Given the description of an element on the screen output the (x, y) to click on. 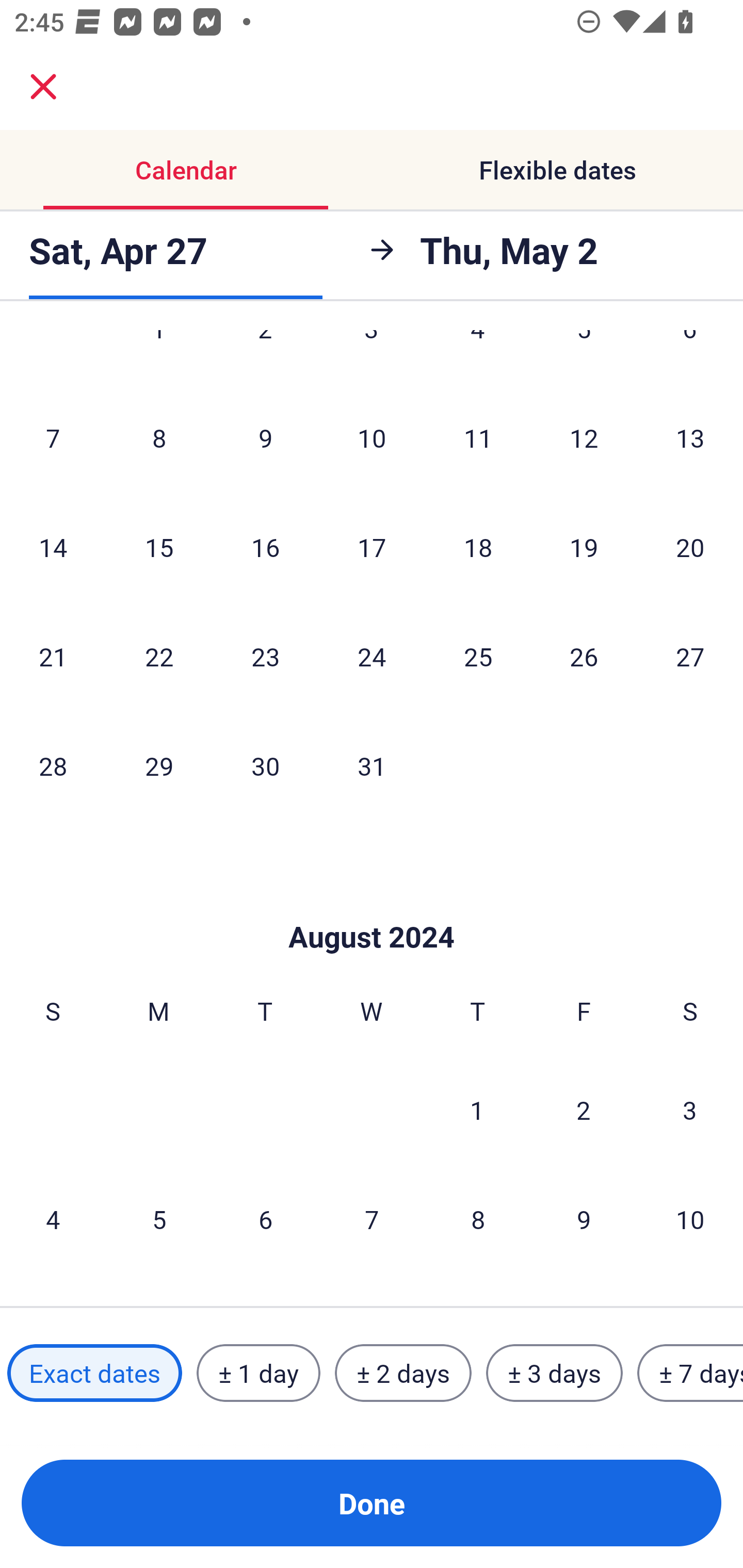
close. (43, 86)
Flexible dates (557, 170)
7 Sunday, July 7, 2024 (53, 437)
8 Monday, July 8, 2024 (159, 437)
9 Tuesday, July 9, 2024 (265, 437)
10 Wednesday, July 10, 2024 (371, 437)
11 Thursday, July 11, 2024 (477, 437)
12 Friday, July 12, 2024 (584, 437)
13 Saturday, July 13, 2024 (690, 437)
14 Sunday, July 14, 2024 (53, 546)
15 Monday, July 15, 2024 (159, 546)
16 Tuesday, July 16, 2024 (265, 546)
17 Wednesday, July 17, 2024 (371, 546)
18 Thursday, July 18, 2024 (477, 546)
19 Friday, July 19, 2024 (584, 546)
20 Saturday, July 20, 2024 (690, 546)
21 Sunday, July 21, 2024 (53, 655)
22 Monday, July 22, 2024 (159, 655)
23 Tuesday, July 23, 2024 (265, 655)
24 Wednesday, July 24, 2024 (371, 655)
25 Thursday, July 25, 2024 (477, 655)
26 Friday, July 26, 2024 (584, 655)
27 Saturday, July 27, 2024 (690, 655)
28 Sunday, July 28, 2024 (53, 765)
29 Monday, July 29, 2024 (159, 765)
30 Tuesday, July 30, 2024 (265, 765)
31 Wednesday, July 31, 2024 (371, 765)
Skip to Done (371, 906)
1 Thursday, August 1, 2024 (477, 1108)
2 Friday, August 2, 2024 (583, 1108)
3 Saturday, August 3, 2024 (689, 1108)
4 Sunday, August 4, 2024 (53, 1218)
5 Monday, August 5, 2024 (159, 1218)
6 Tuesday, August 6, 2024 (265, 1218)
7 Wednesday, August 7, 2024 (371, 1218)
8 Thursday, August 8, 2024 (477, 1218)
9 Friday, August 9, 2024 (584, 1218)
10 Saturday, August 10, 2024 (690, 1218)
Exact dates (94, 1372)
± 1 day (258, 1372)
± 2 days (403, 1372)
± 3 days (553, 1372)
± 7 days (690, 1372)
Done (371, 1502)
